Given the description of an element on the screen output the (x, y) to click on. 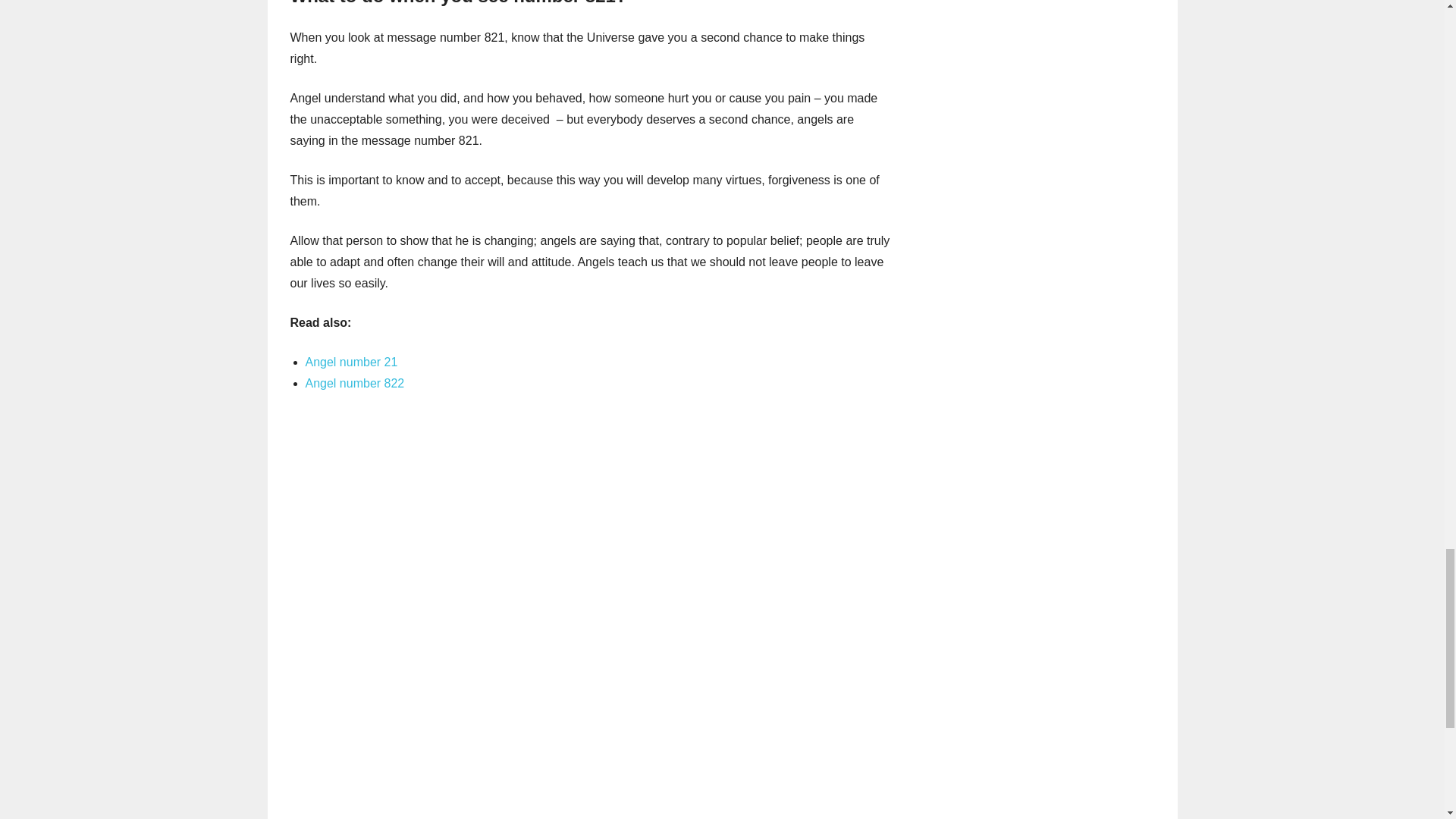
Angel number 21 (350, 361)
Angel number 822 (354, 382)
